Given the description of an element on the screen output the (x, y) to click on. 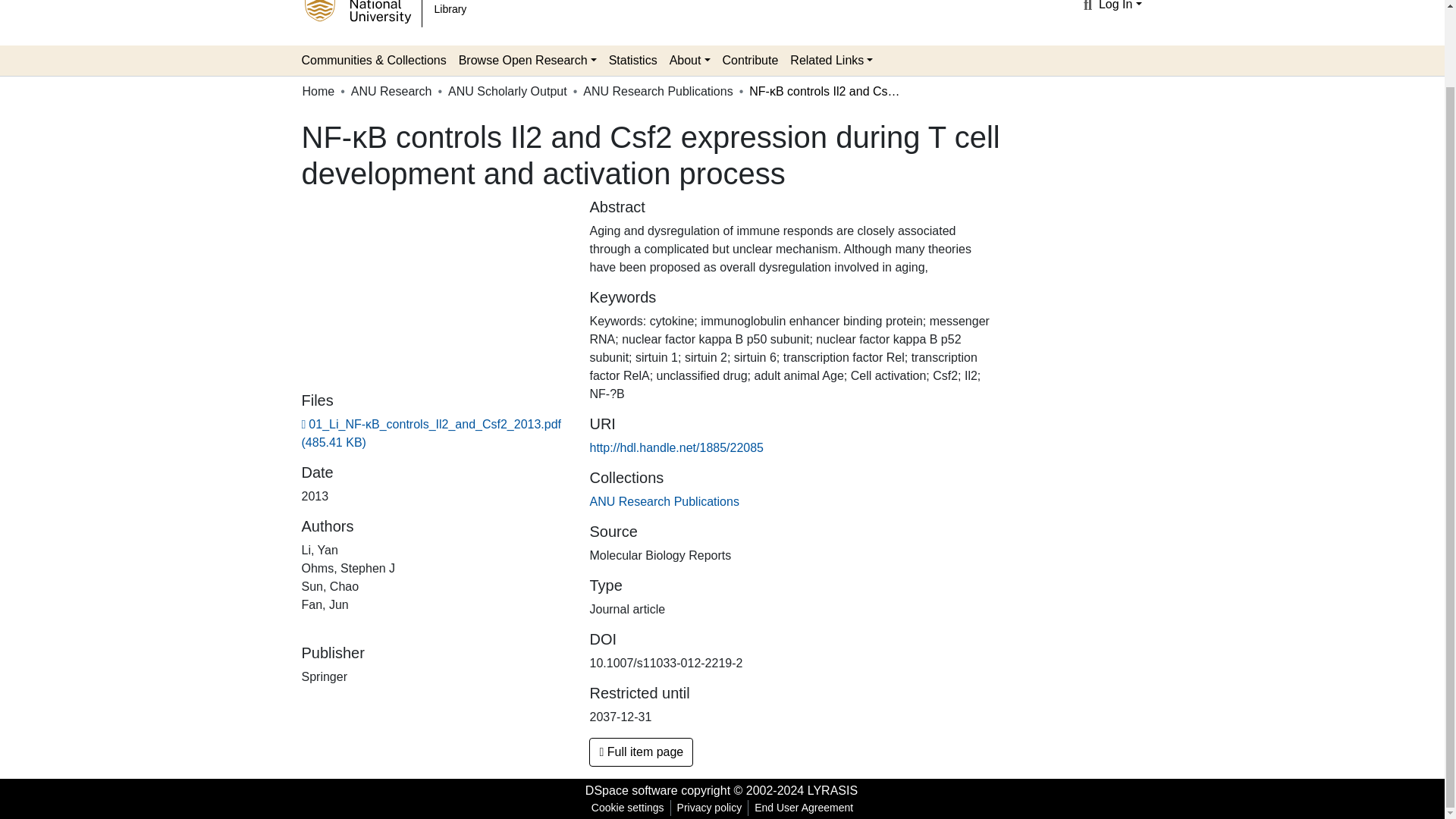
DSpace software (631, 789)
End User Agreement (803, 807)
Log In (1119, 5)
ANU Research Publications (657, 91)
LYRASIS (832, 789)
Full item page (641, 751)
Search (1087, 6)
Contribute (750, 60)
ANU Scholarly Output (507, 91)
Statistics (632, 60)
